Given the description of an element on the screen output the (x, y) to click on. 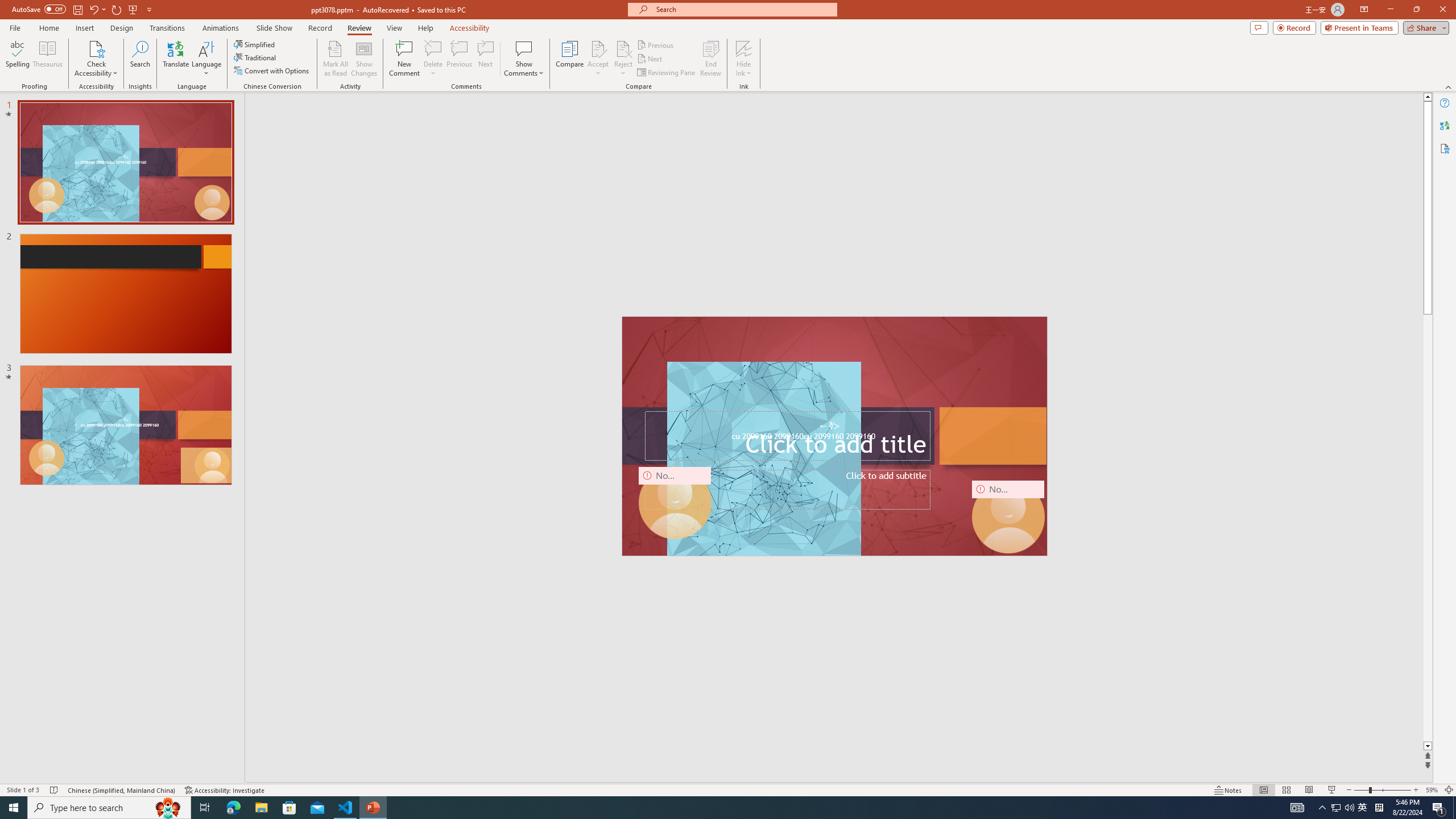
TextBox 7 (829, 426)
Compare (569, 58)
Accept (598, 58)
